Given the description of an element on the screen output the (x, y) to click on. 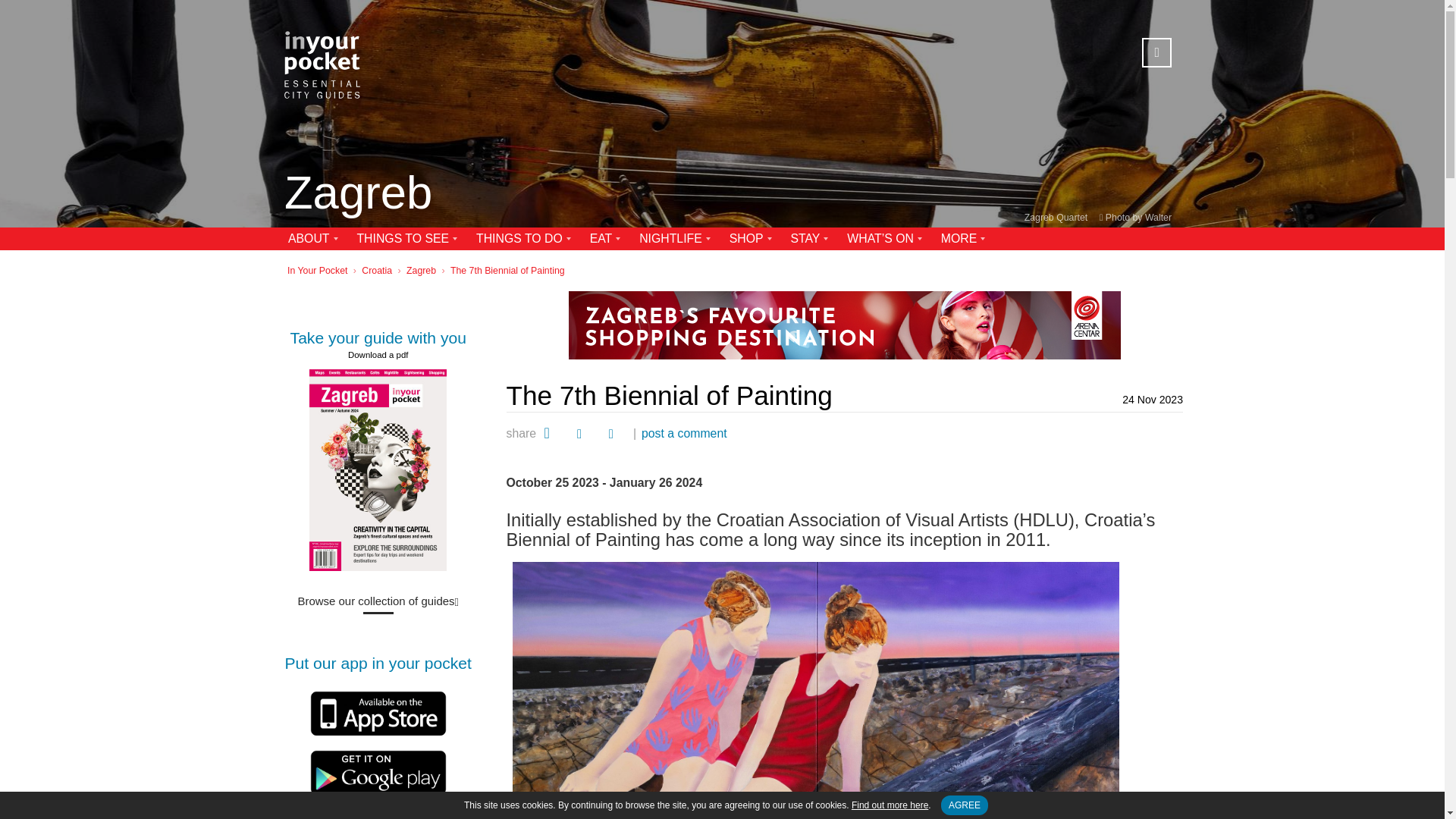
post a comment (684, 433)
Zagreb (357, 194)
